Given the description of an element on the screen output the (x, y) to click on. 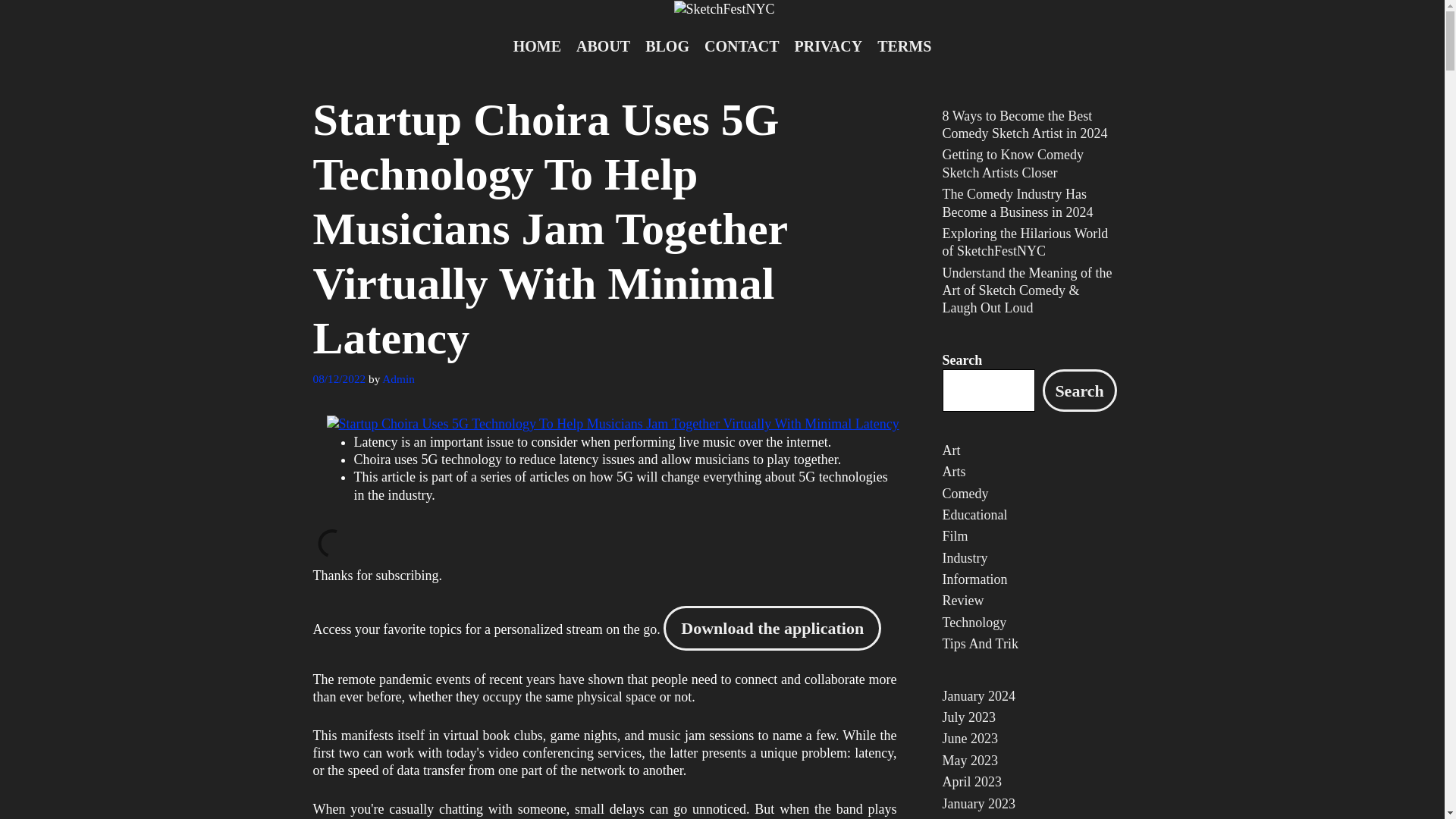
TERMS (904, 45)
ABOUT (603, 45)
PRIVACY (828, 45)
View all posts by Admin (397, 378)
SketchFestNYC (723, 9)
Loading Something is loading. (331, 543)
CONTACT (742, 45)
17:24 (339, 378)
HOME (537, 45)
BLOG (667, 45)
SketchFestNYC (723, 7)
Admin (397, 378)
Download the application (771, 628)
